Given the description of an element on the screen output the (x, y) to click on. 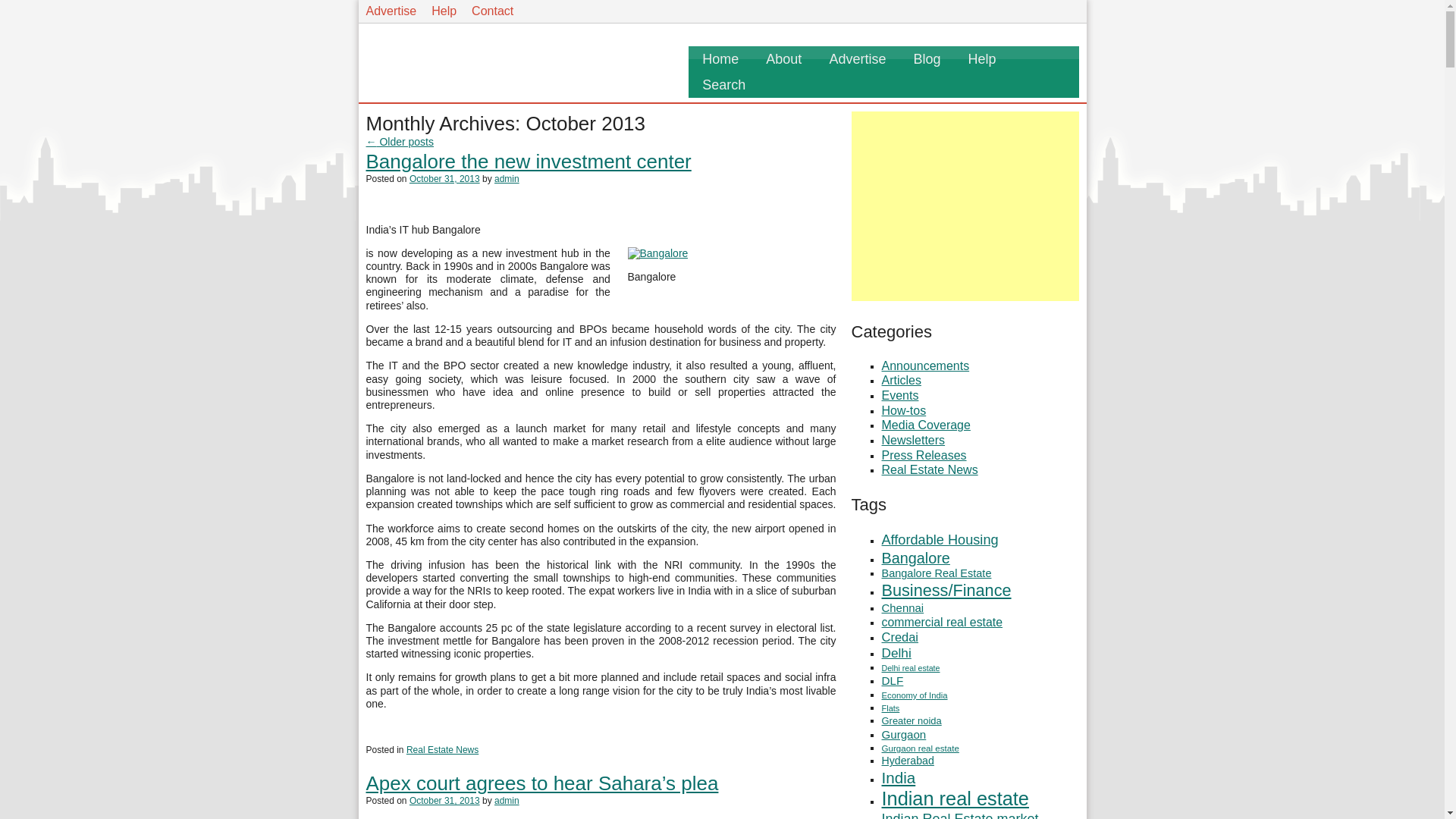
admin (507, 178)
Contact us (492, 11)
Skip to primary content (53, 6)
Skip to secondary content (61, 6)
4:30 pm (444, 800)
Help (443, 11)
Search (723, 84)
Click here to Know about the Packages (390, 11)
About (783, 58)
Advertise (857, 58)
Bangalore the new investment center (527, 160)
View all posts by admin (507, 178)
PropertyWala.com Homepage (456, 49)
Real Estate News (442, 749)
5:18 pm (444, 178)
